Given the description of an element on the screen output the (x, y) to click on. 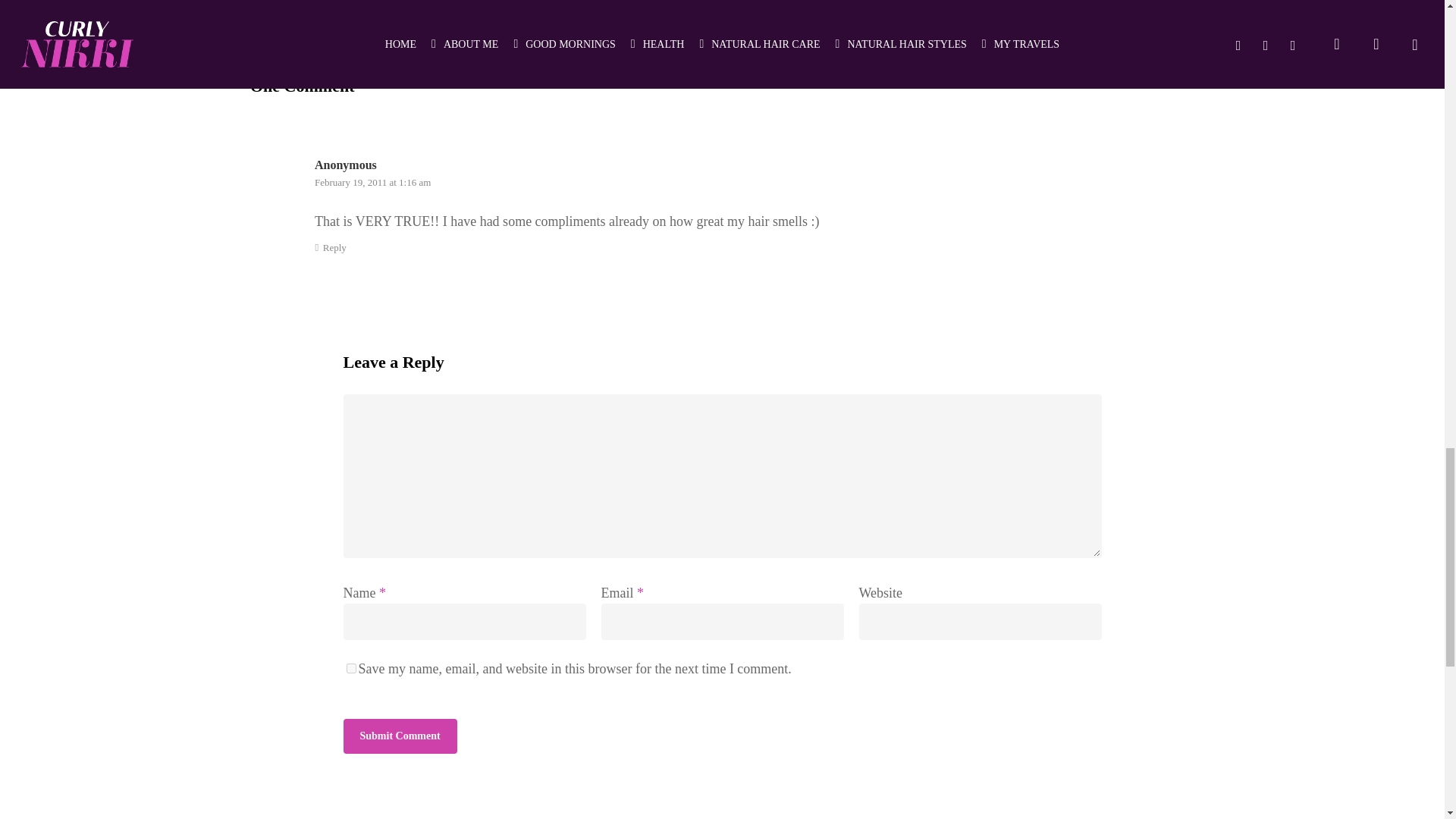
Submit Comment (399, 736)
yes (350, 668)
